Given the description of an element on the screen output the (x, y) to click on. 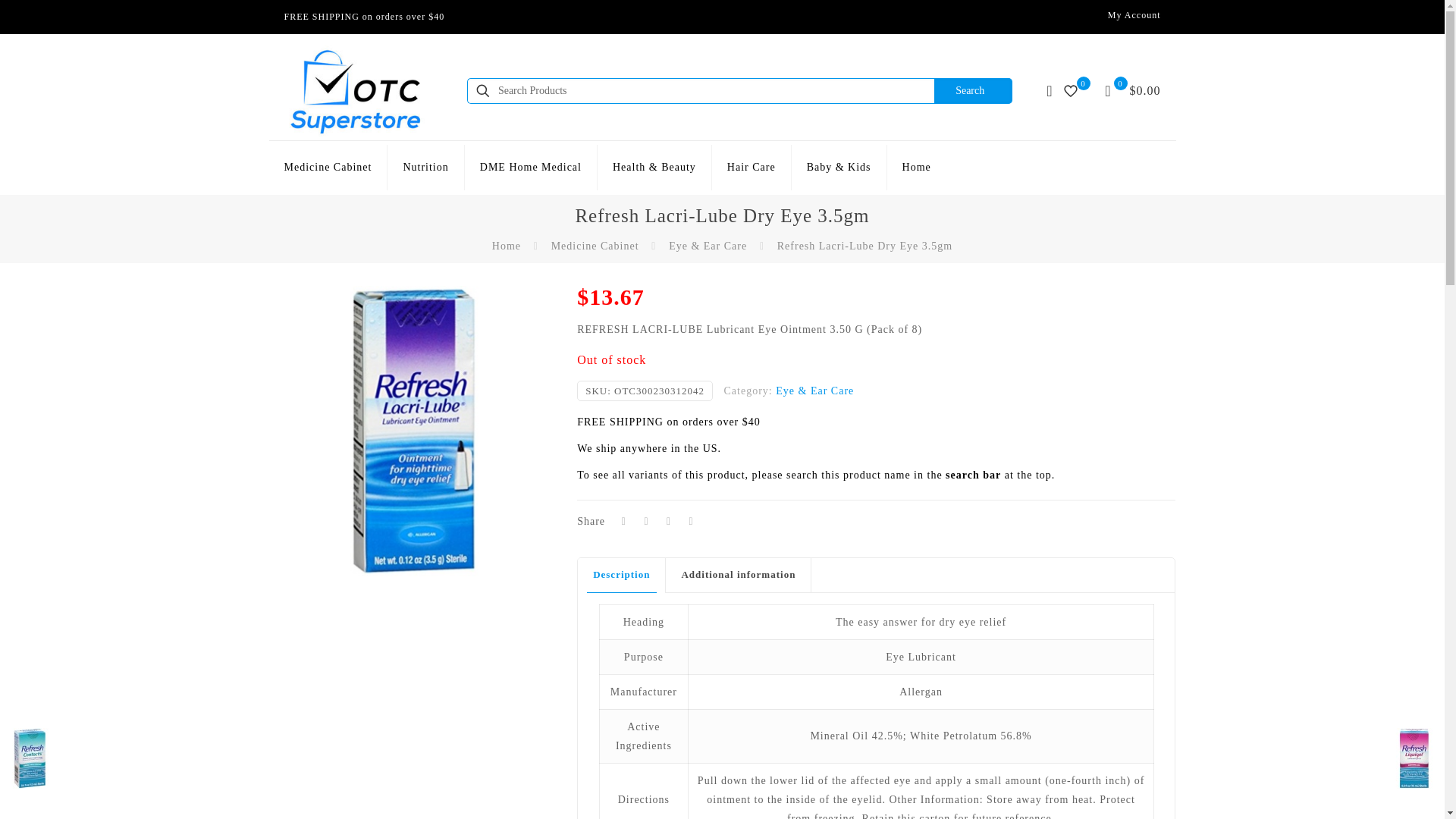
OTC Superstore (354, 91)
Search (972, 90)
REFRESH LACRI-LUBE DRY EYE 3 (413, 430)
My Account (1134, 14)
Nutrition (425, 167)
Search (972, 90)
Medicine Cabinet (327, 167)
DME Home Medical (530, 167)
0 (1074, 90)
